Given the description of an element on the screen output the (x, y) to click on. 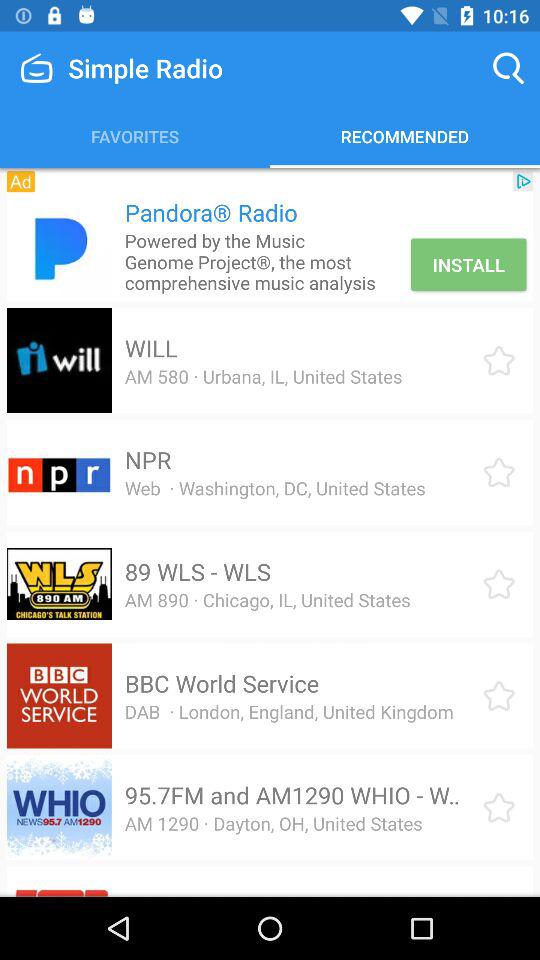
turn on icon below am 1290 dayton icon (274, 893)
